Given the description of an element on the screen output the (x, y) to click on. 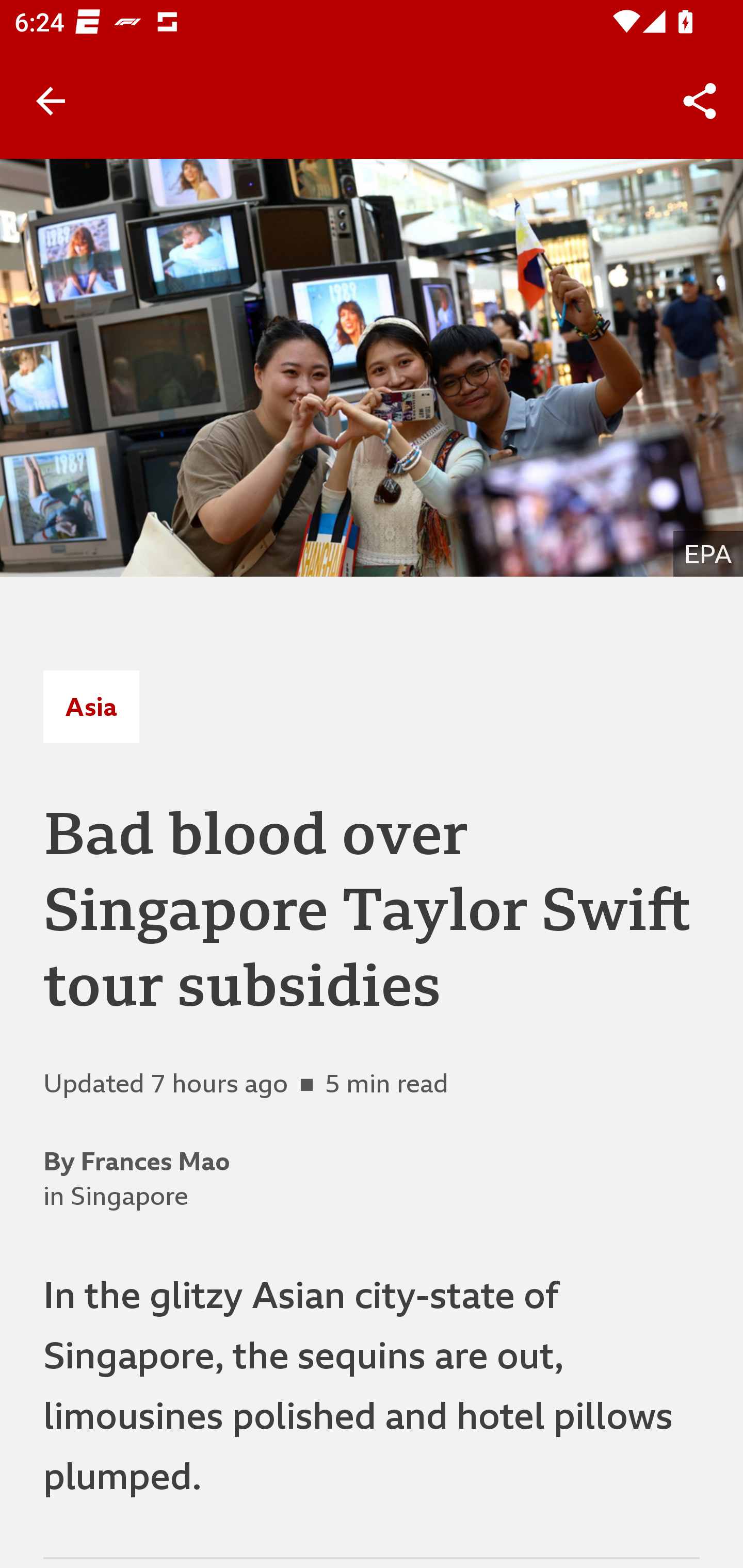
Back (50, 101)
Share (699, 101)
Asia (91, 706)
